Given the description of an element on the screen output the (x, y) to click on. 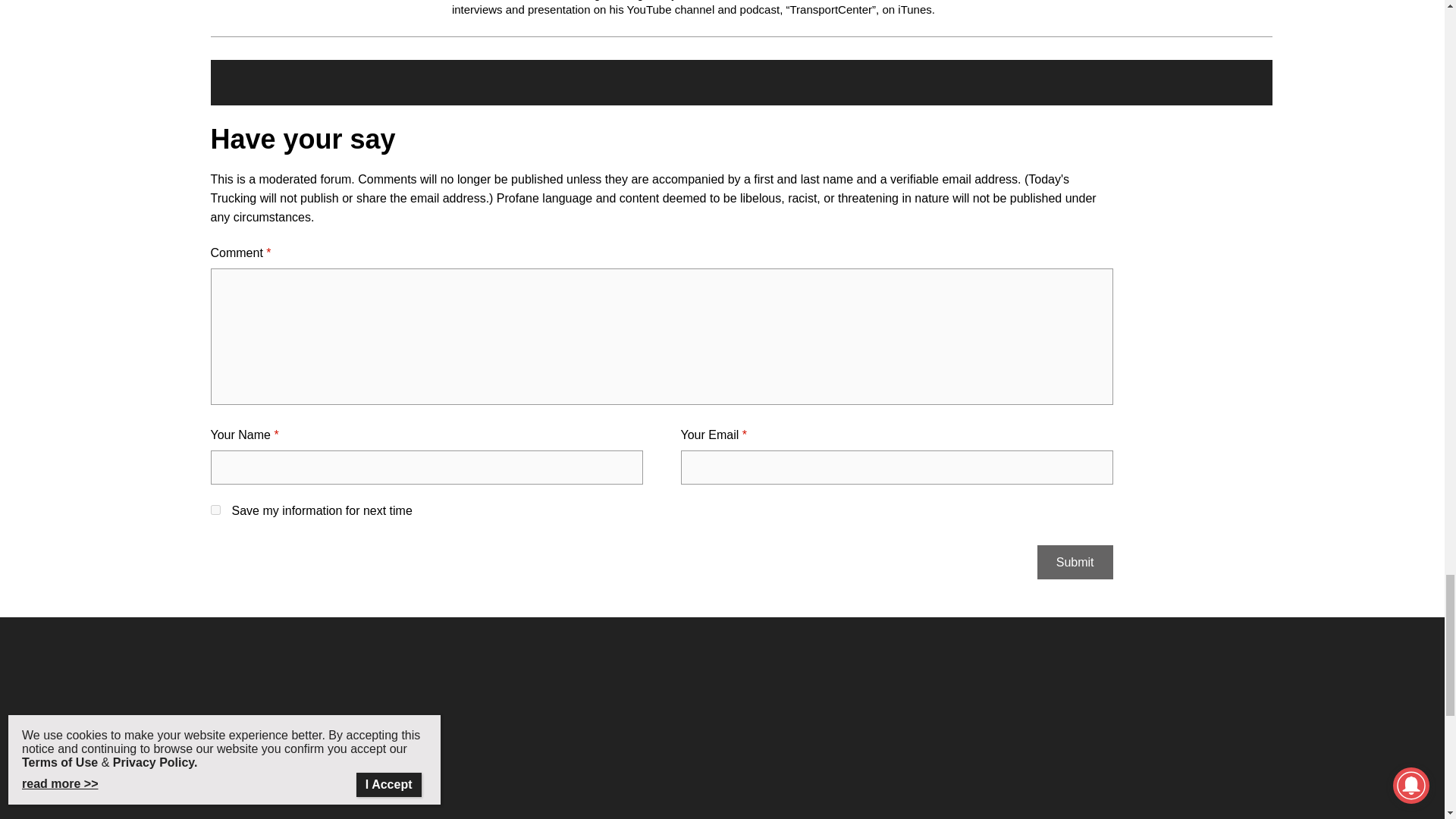
Submit (1074, 562)
3rd party ad content (721, 729)
yes (216, 510)
